Given the description of an element on the screen output the (x, y) to click on. 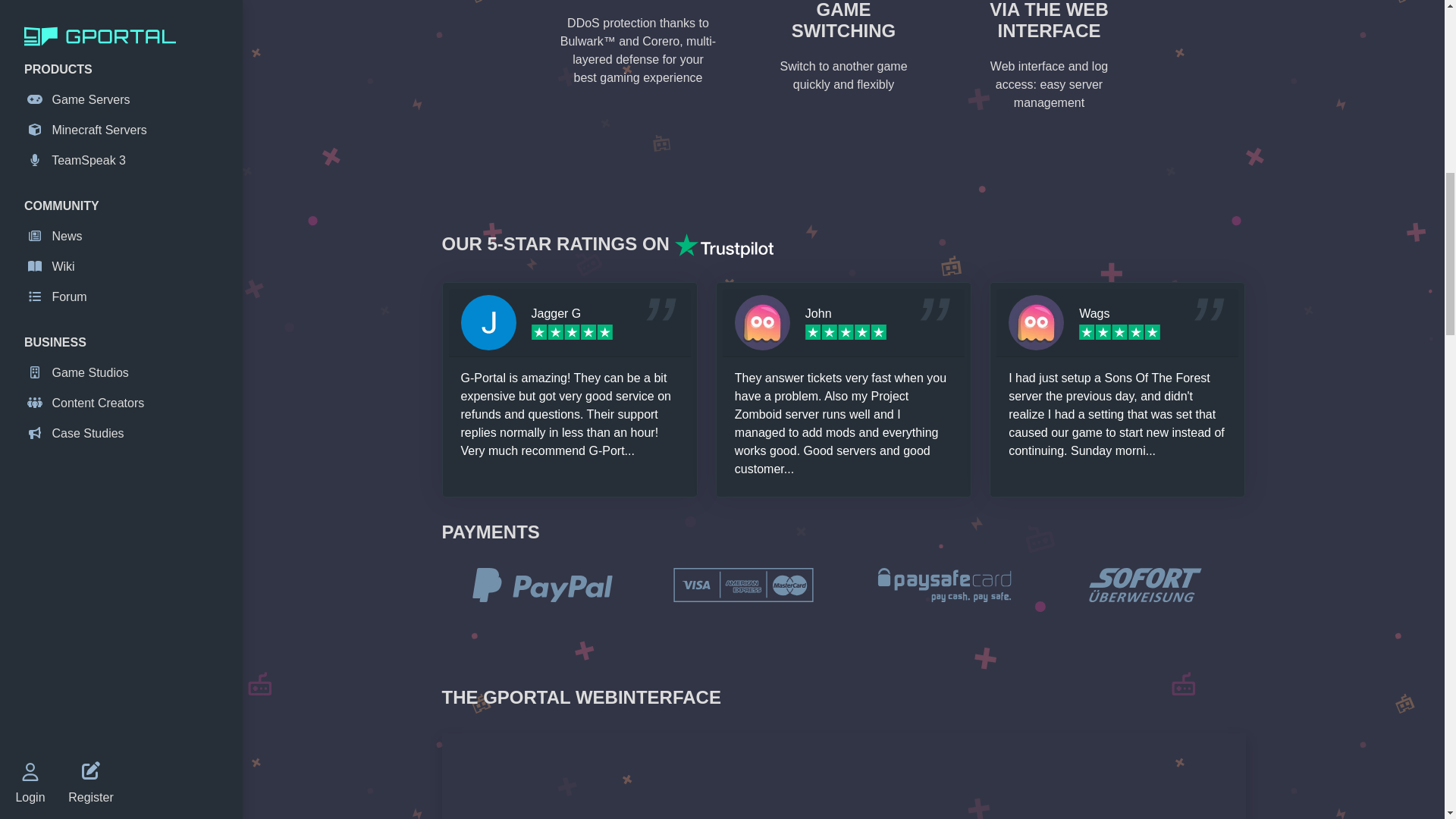
The GPORTAL Webinterface (842, 776)
